Given the description of an element on the screen output the (x, y) to click on. 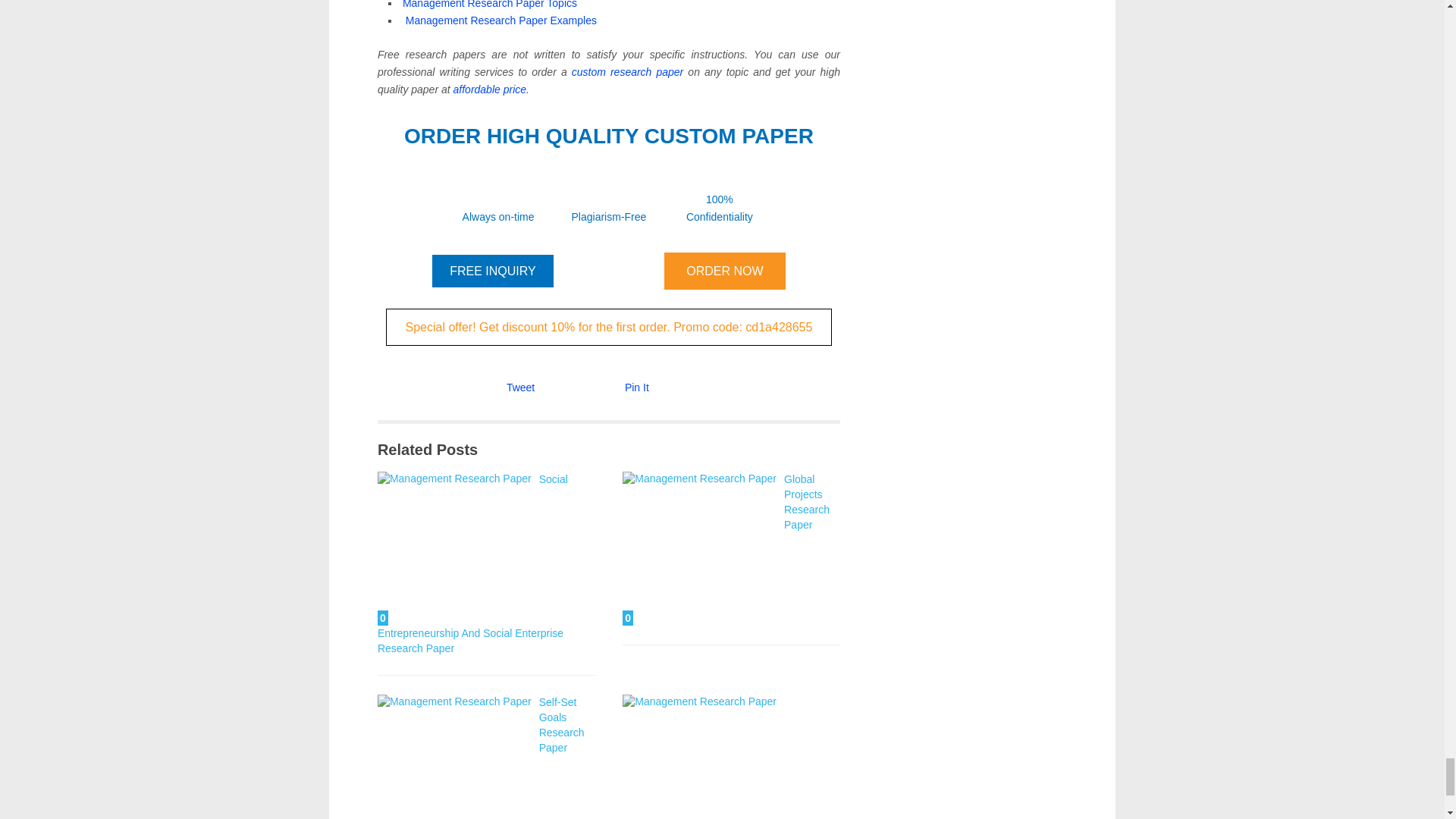
affordable price (489, 89)
Outsourcing to India Research Paper (699, 756)
Global Projects Research Paper (699, 548)
Management Research Paper Topics (489, 4)
Social Entrepreneurship And Social Enterprise Research Paper (454, 548)
ORDER NOW (724, 270)
Management Research Paper Examples (501, 20)
Self-Set Goals Research Paper (454, 756)
Social Entrepreneurship And Social Enterprise Research Paper (472, 563)
0 (454, 756)
custom research paper (628, 71)
Social Entrepreneurship And Social Enterprise Research Paper (472, 563)
0 (699, 548)
0 (699, 756)
FREE INQUIRY (492, 270)
